Given the description of an element on the screen output the (x, y) to click on. 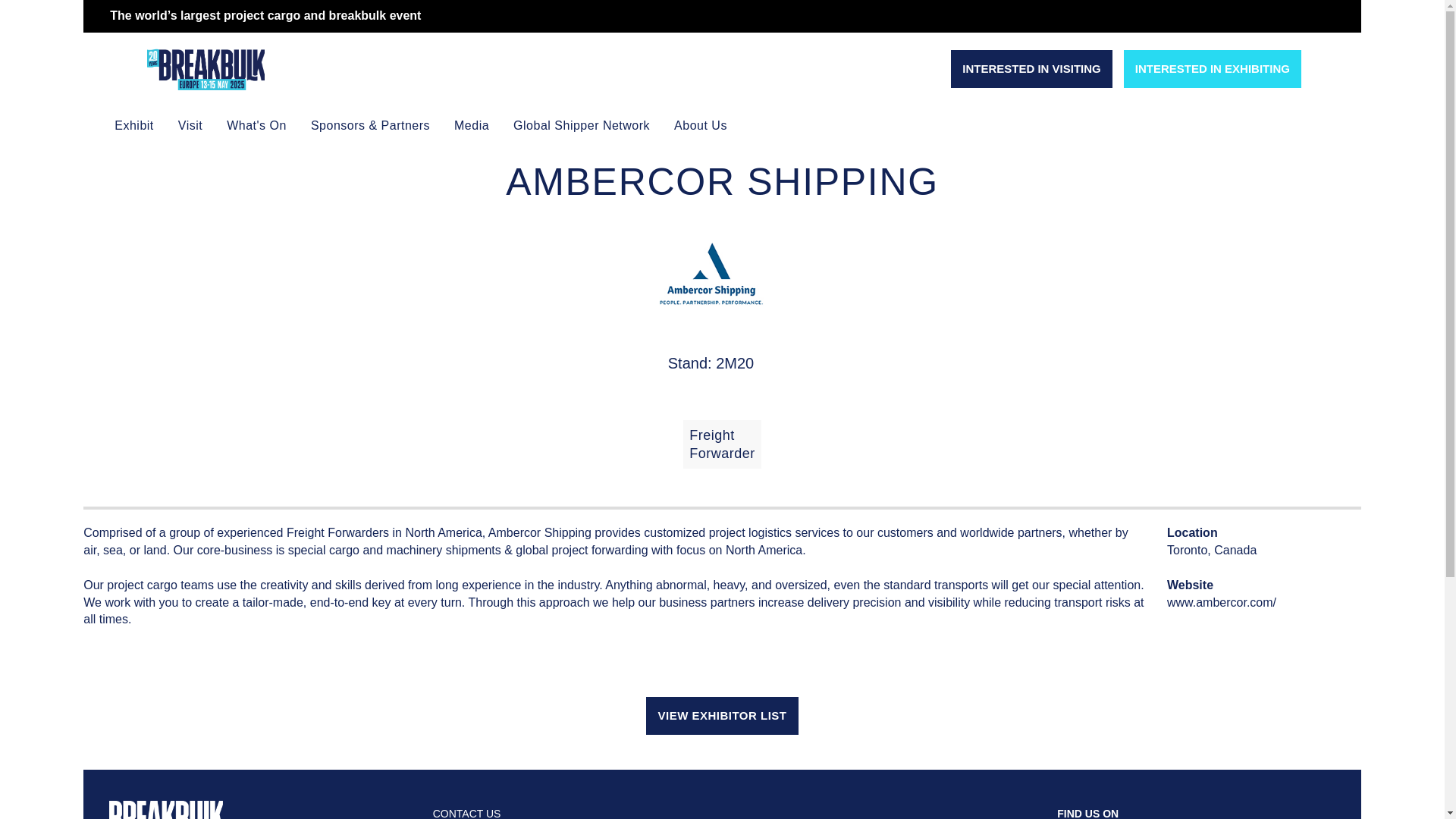
INTERESTED IN EXHIBITING (1212, 68)
Visit (189, 125)
Media (471, 125)
What's On (256, 125)
Exhibit (133, 125)
About Us (700, 125)
INTERESTED IN VISITING (1031, 68)
Global Shipper Network (581, 125)
